Given the description of an element on the screen output the (x, y) to click on. 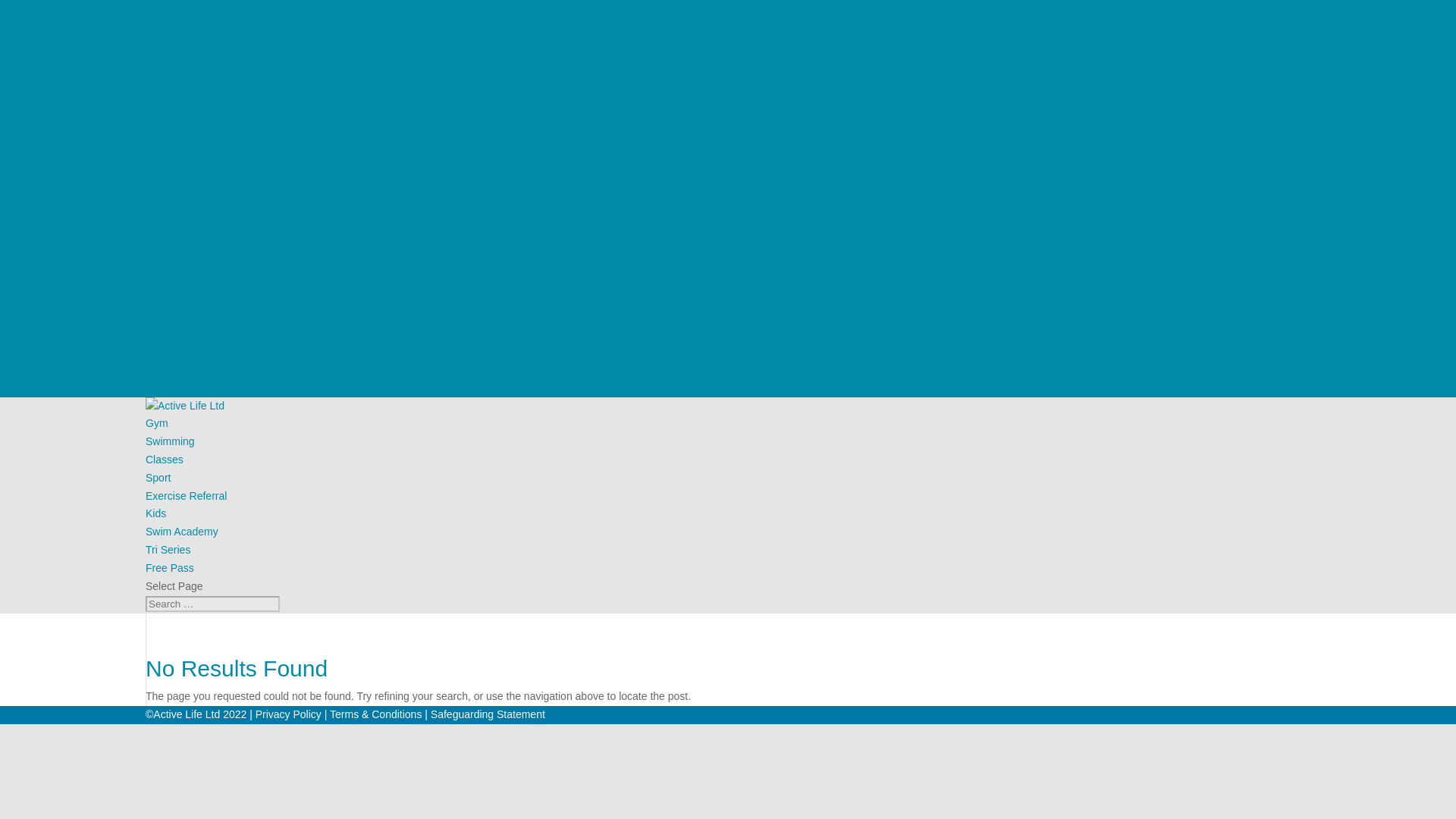
Tri Series (167, 549)
Swim Academy (181, 531)
Gym (156, 422)
Safeguarding Statement (487, 714)
Home (159, 8)
Herons Leisure Centre Timetable (223, 152)
Timetables (170, 134)
Herons Leisure Centre (198, 315)
Book Now (169, 242)
Kingsmead Leisure Centre Timetable (232, 170)
